Given the description of an element on the screen output the (x, y) to click on. 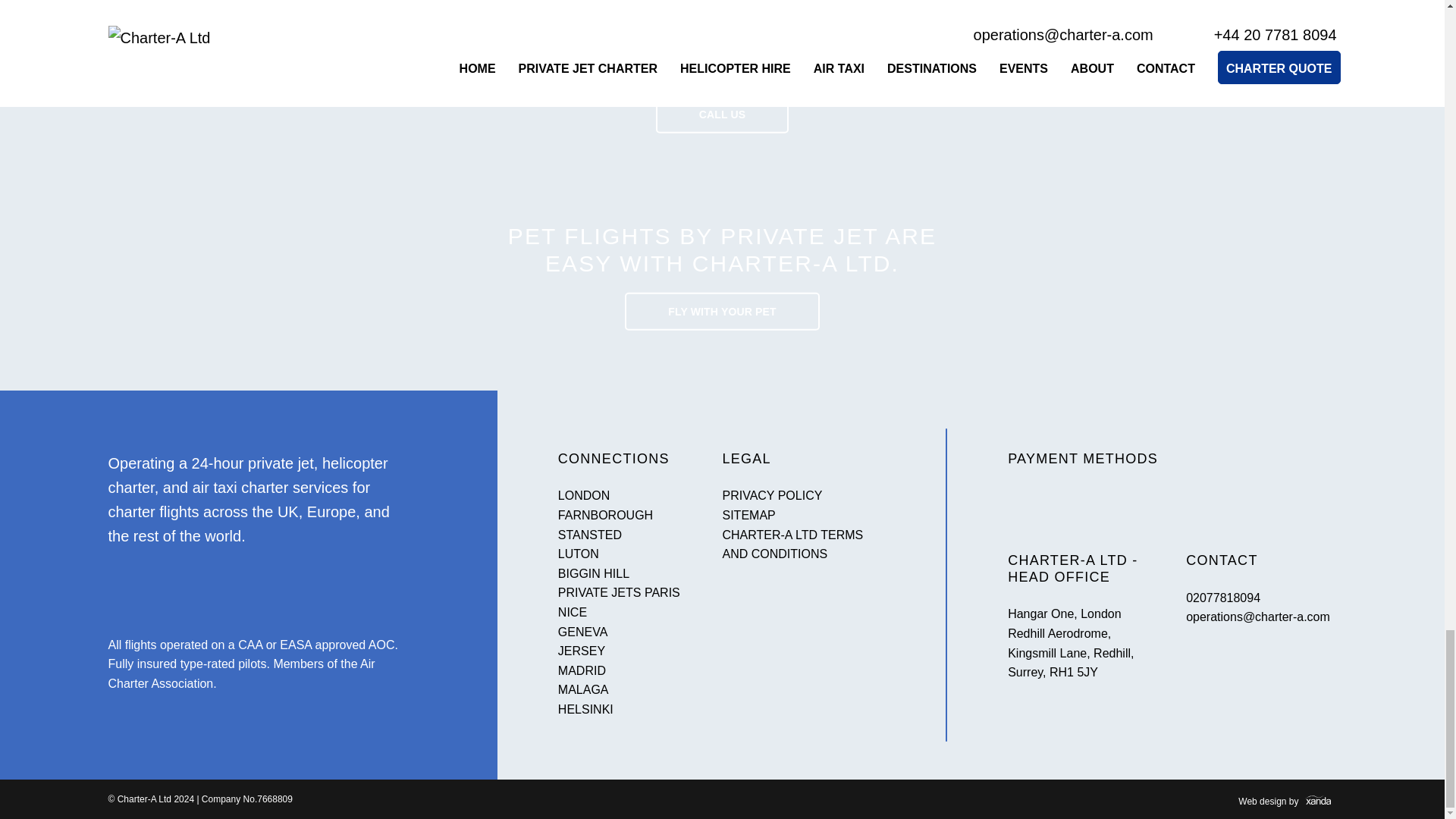
Pet Flights (721, 311)
Contact Us (722, 114)
Xanda Ltd (1287, 799)
